Given the description of an element on the screen output the (x, y) to click on. 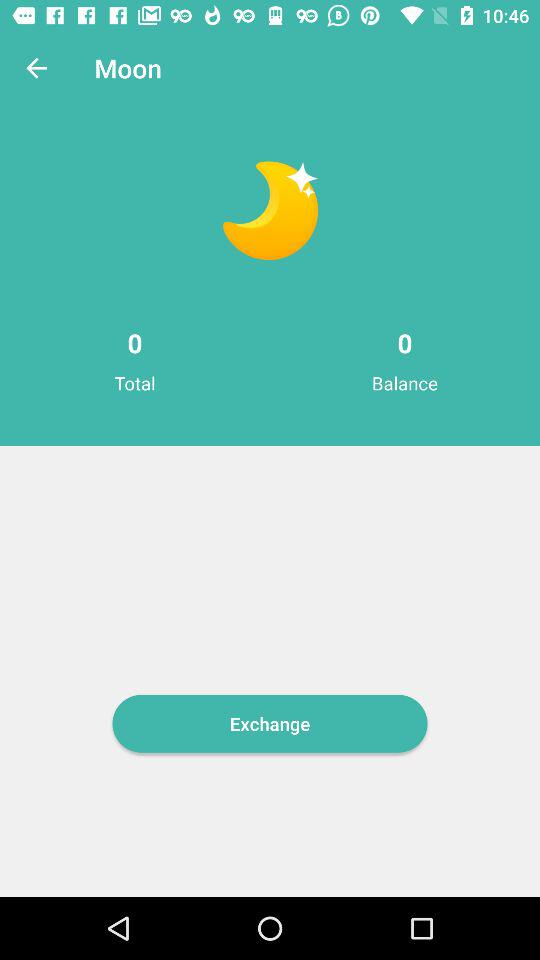
turn on the icon next to the moon item (36, 68)
